Given the description of an element on the screen output the (x, y) to click on. 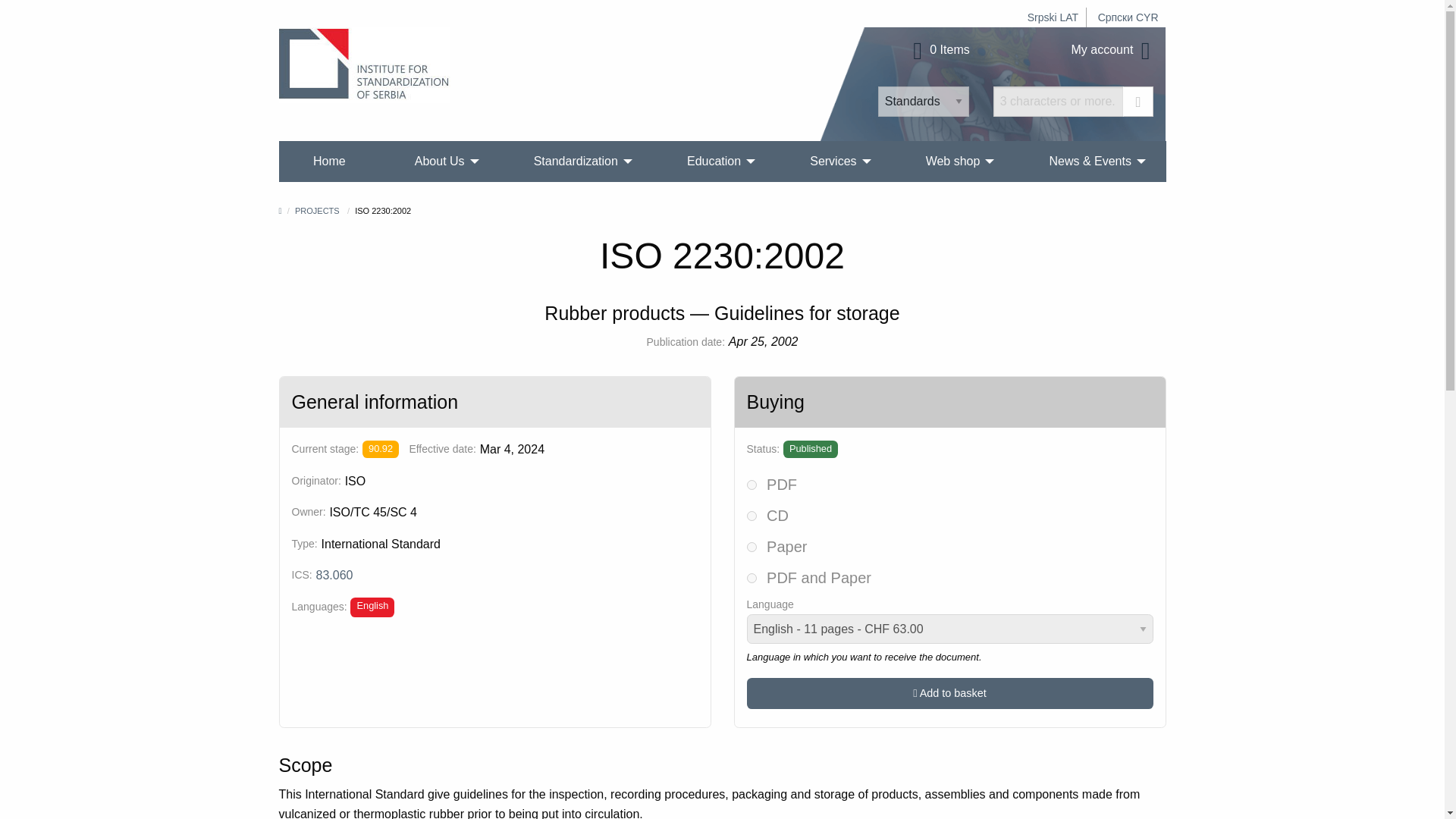
About Us (439, 160)
1267 (750, 484)
0 Items (938, 49)
1269 (750, 578)
Home (329, 160)
My account (1112, 49)
Srpski LAT (1052, 17)
Shopping cart (938, 49)
1268 (750, 547)
Search (1138, 101)
Standard to be revised (380, 448)
2885 (750, 515)
Status (810, 448)
My account (1112, 49)
